Given the description of an element on the screen output the (x, y) to click on. 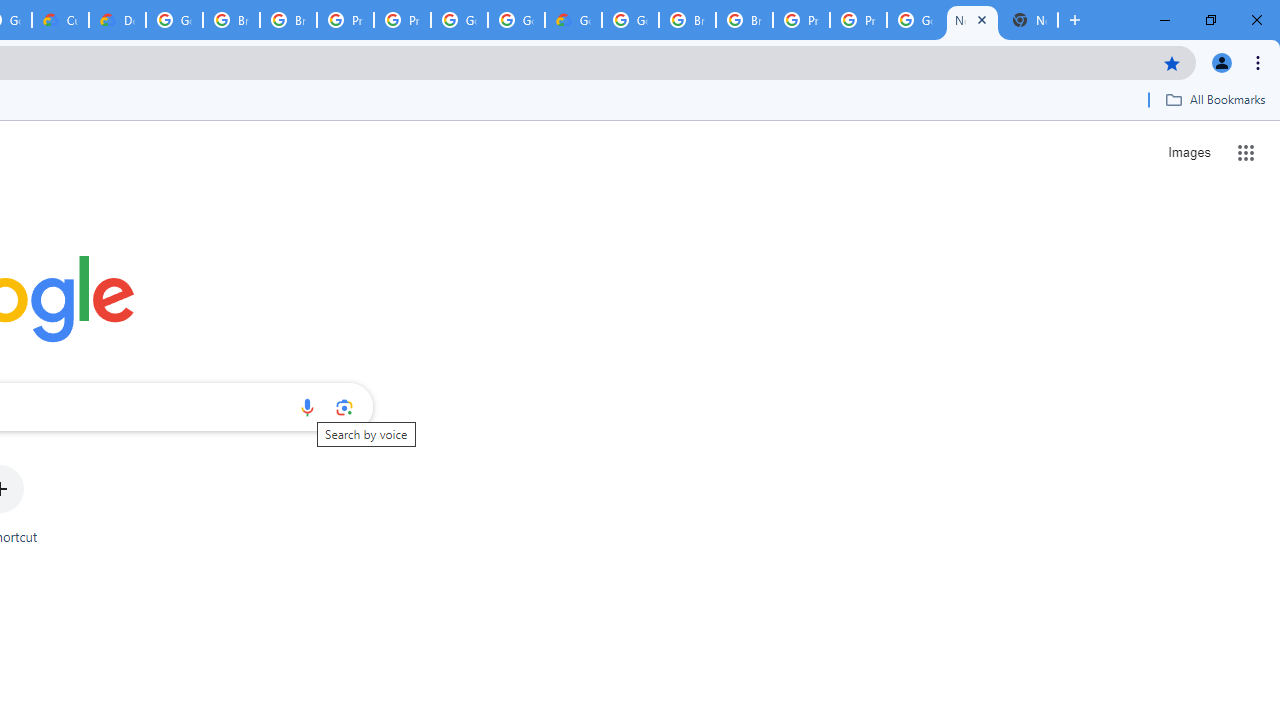
Google Cloud Platform (630, 20)
Browse Chrome as a guest - Computer - Google Chrome Help (744, 20)
All Bookmarks (1215, 99)
Google Cloud Platform (516, 20)
Browse Chrome as a guest - Computer - Google Chrome Help (288, 20)
Google Cloud Platform (915, 20)
Search by voice (307, 407)
Browse Chrome as a guest - Computer - Google Chrome Help (687, 20)
New Tab (1029, 20)
